Given the description of an element on the screen output the (x, y) to click on. 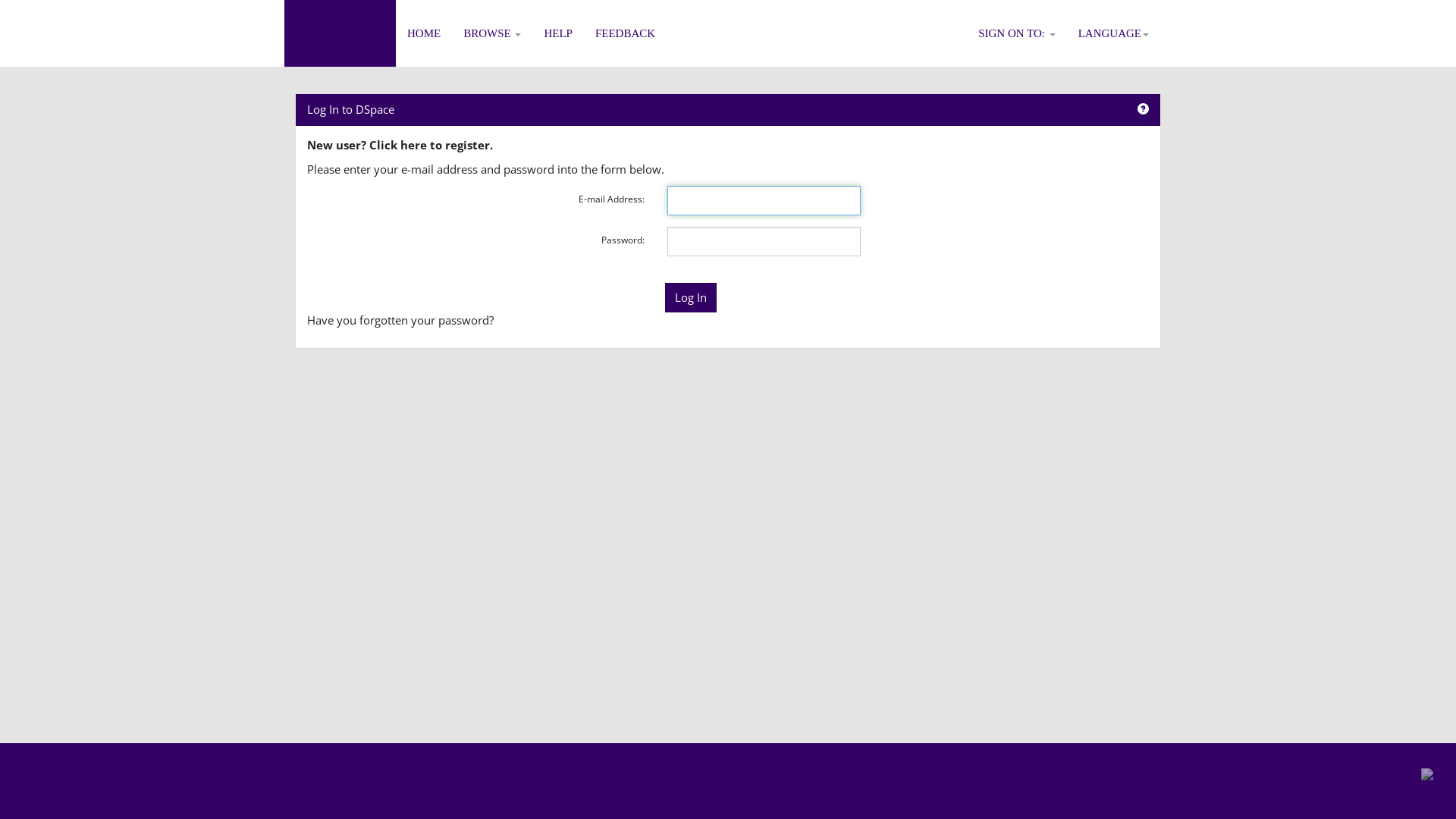
Have you forgotten your password? Element type: text (400, 319)
New user? Click here to register. Element type: text (399, 144)
HELP Element type: text (557, 33)
Log In Element type: text (690, 297)
FEEDBACK Element type: text (624, 33)
HOME Element type: text (423, 33)
SIGN ON TO: Element type: text (1016, 33)
LANGUAGE Element type: text (1113, 33)
BROWSE Element type: text (491, 33)
